Given the description of an element on the screen output the (x, y) to click on. 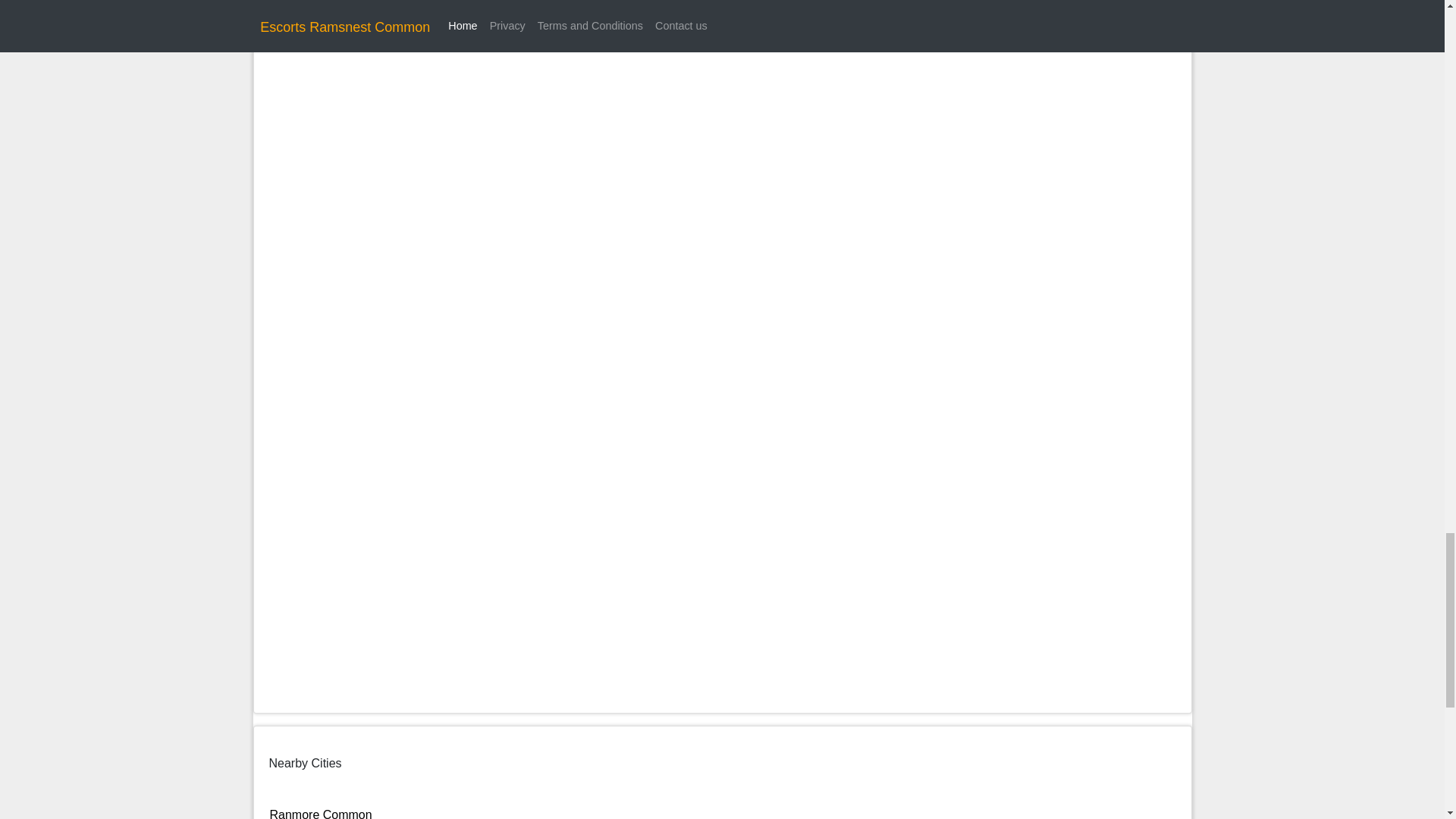
Ranmore Common (320, 813)
